Given the description of an element on the screen output the (x, y) to click on. 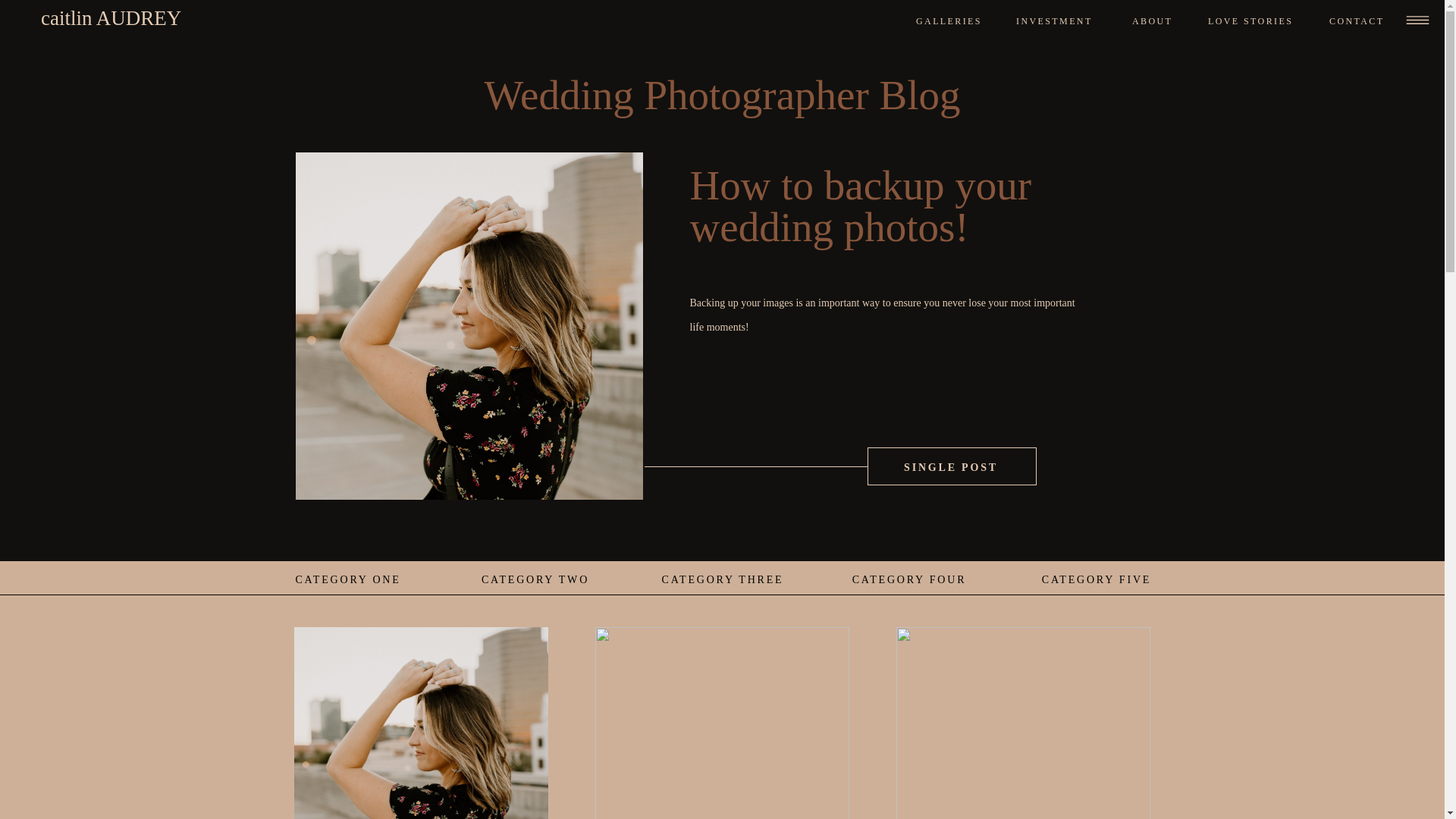
INVESTMENT (1056, 21)
caitlin AUDREY (178, 20)
How to backup your wedding photos! (861, 206)
CATEGORY TWO (534, 580)
SINGLE POST (950, 466)
CATEGORY FIVE (1095, 580)
LOVE STORIES (1258, 22)
CATEGORY THREE (722, 580)
A typical work day (1023, 723)
CONTACT (1361, 21)
